Given the description of an element on the screen output the (x, y) to click on. 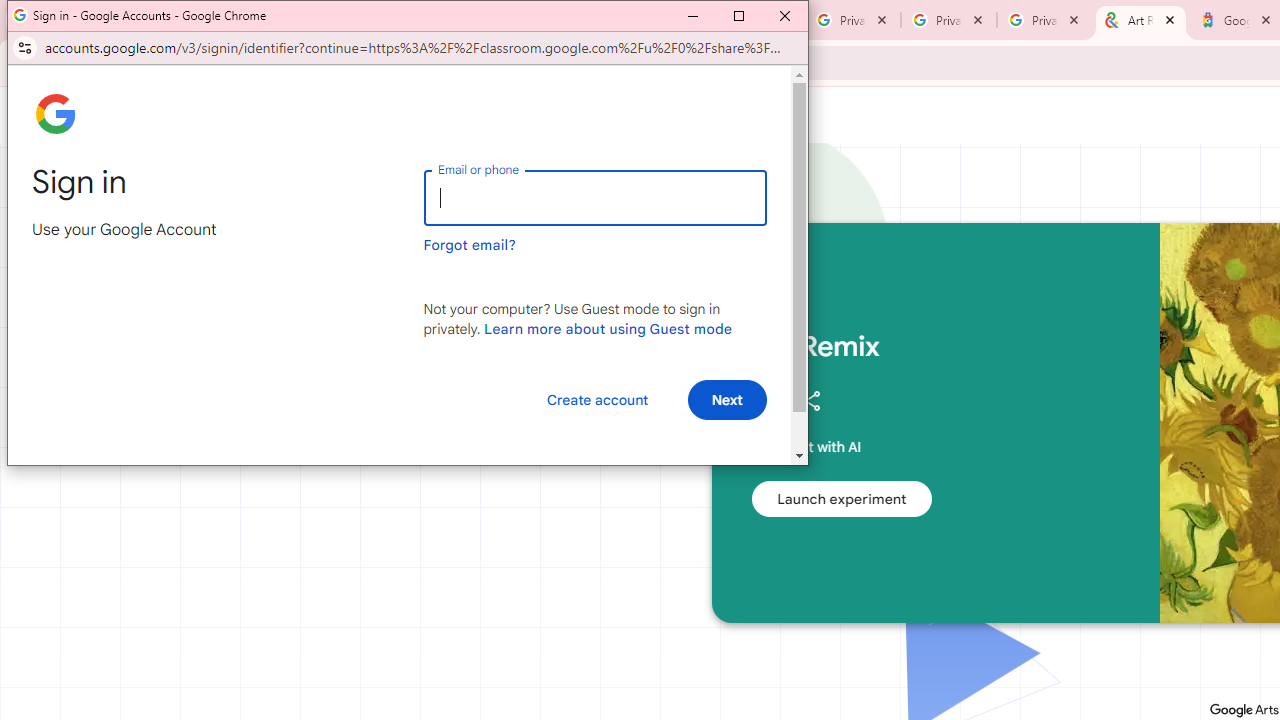
Forgot email? (469, 245)
English (United States) (115, 475)
Privacy Checkup (949, 20)
Learn more about using Guest mode (608, 328)
Maximize (738, 15)
Email or phone (594, 197)
Launch experiment (841, 498)
